Given the description of an element on the screen output the (x, y) to click on. 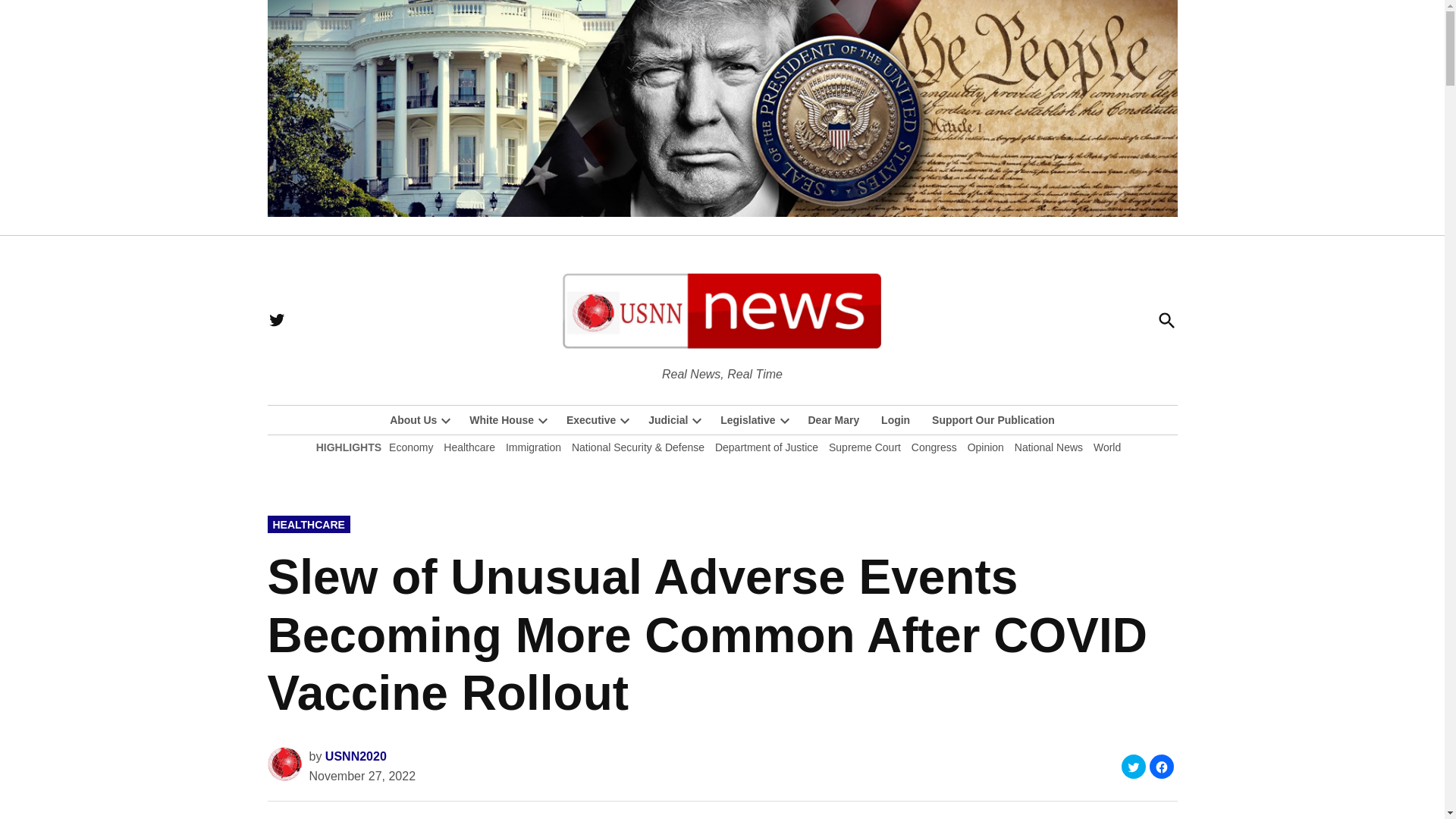
About Us (413, 419)
Open dropdown menu (624, 419)
Twitter (275, 320)
Open dropdown menu (445, 419)
White House (497, 419)
Executive (587, 419)
Open dropdown menu (542, 419)
Click to share on Twitter (1132, 766)
USNN World News (815, 373)
Click to share on Facebook (1161, 766)
